Given the description of an element on the screen output the (x, y) to click on. 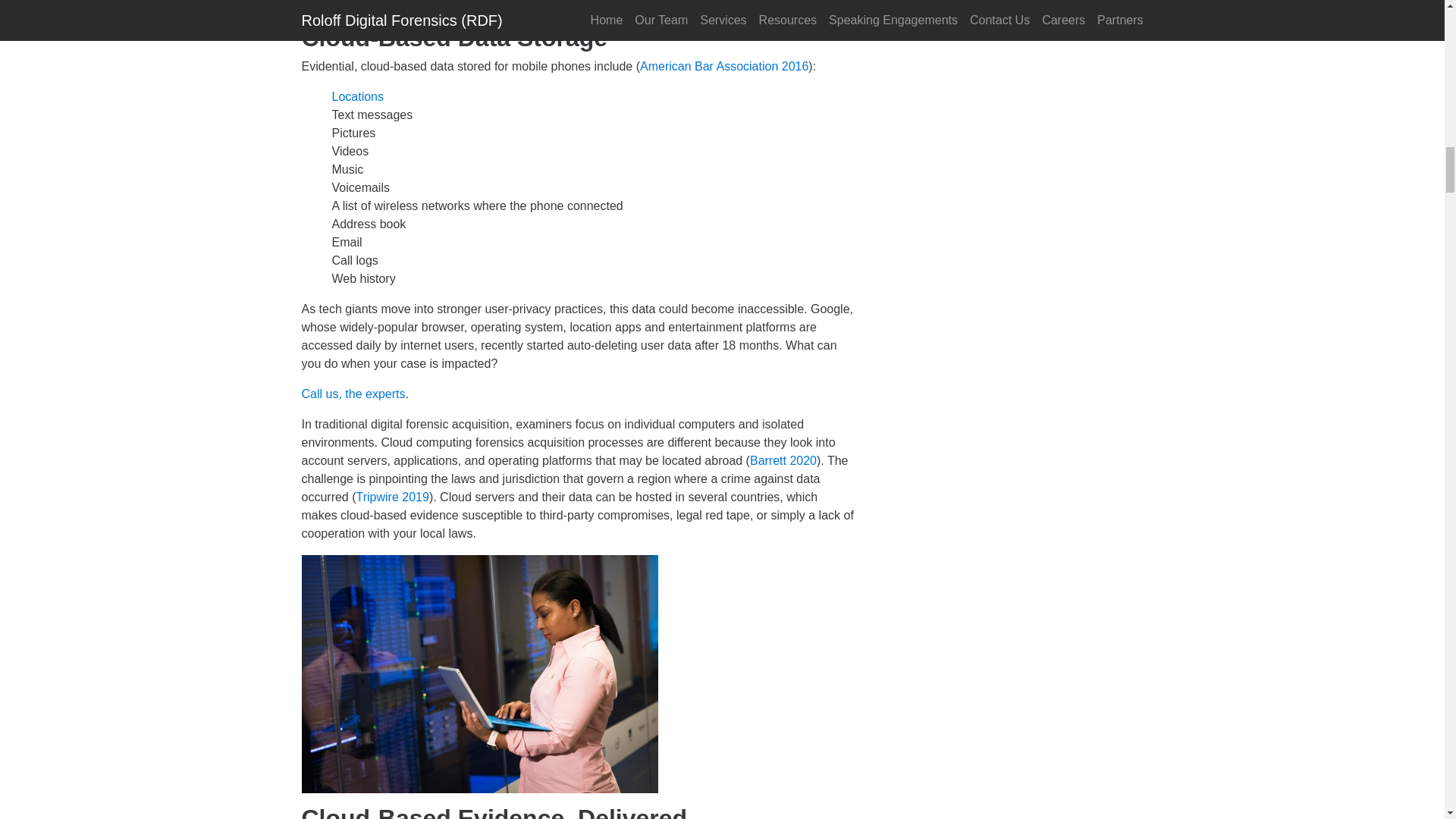
Call us, the experts (353, 393)
Barrett 2020 (782, 460)
American Bar Association 2016 (724, 65)
Locations (357, 96)
Tripwire 2019 (392, 496)
